Given the description of an element on the screen output the (x, y) to click on. 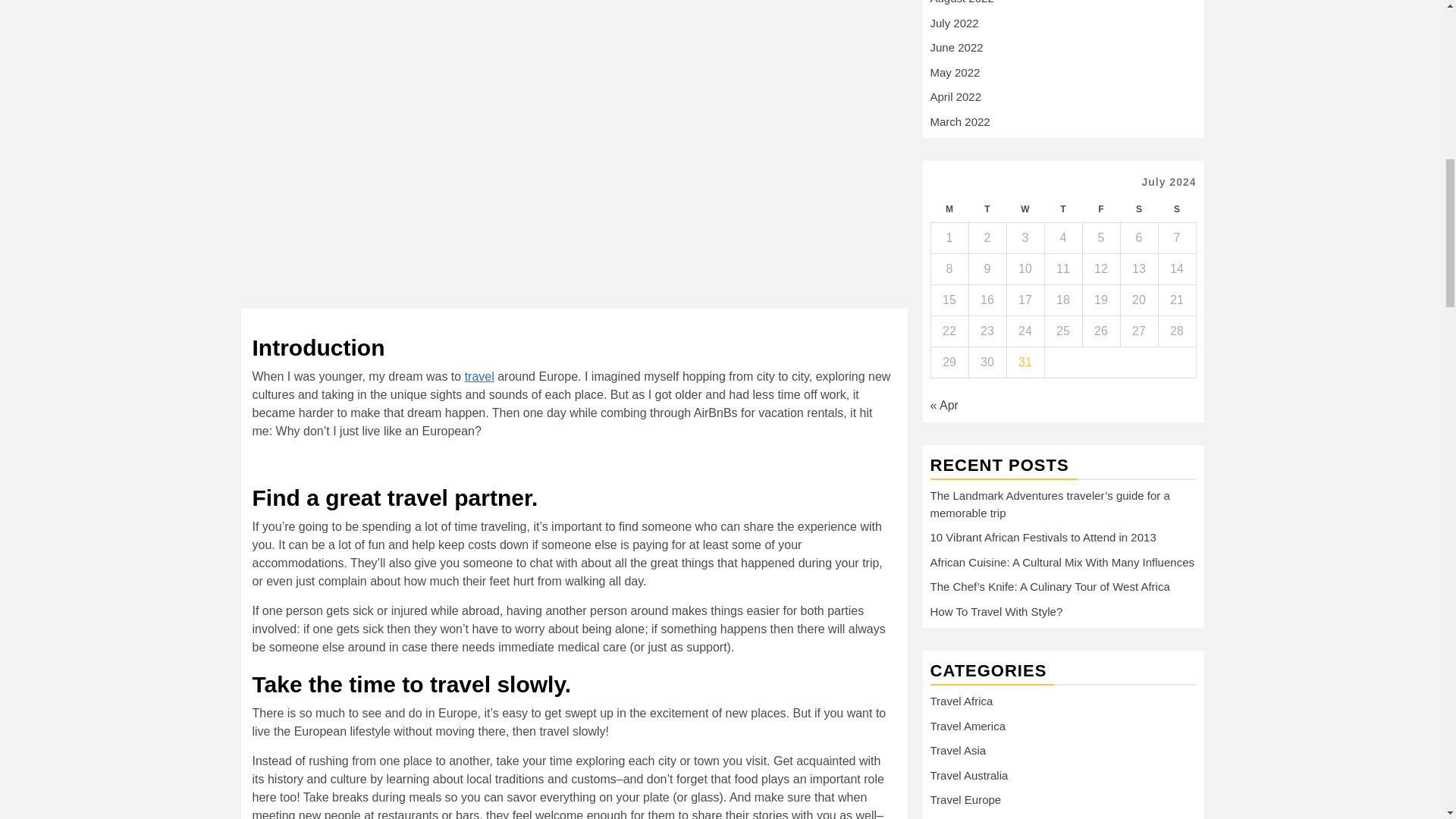
travel (479, 376)
Friday (1100, 209)
Saturday (1138, 209)
Tuesday (987, 209)
Monday (949, 209)
Wednesday (1024, 209)
Sunday (1176, 209)
Thursday (1062, 209)
